Given the description of an element on the screen output the (x, y) to click on. 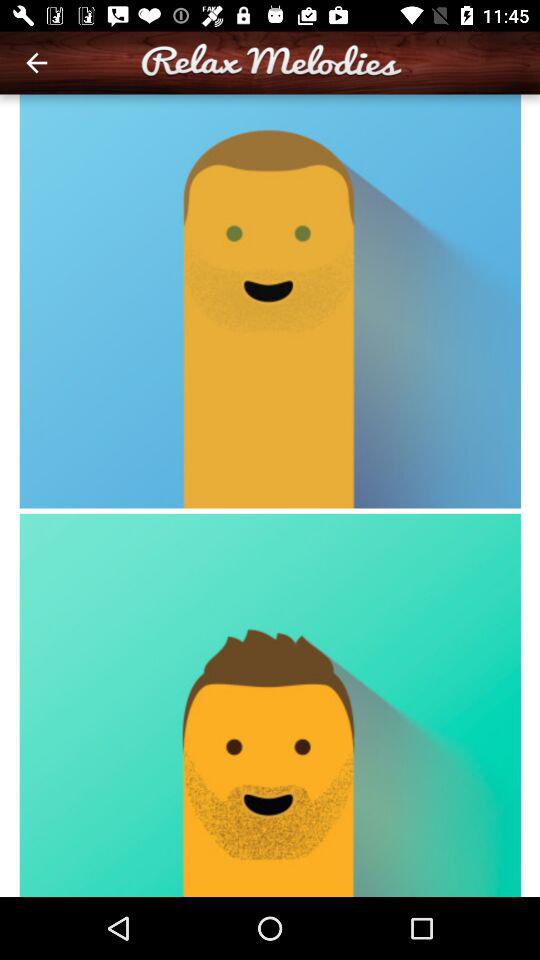
games (270, 495)
